Given the description of an element on the screen output the (x, y) to click on. 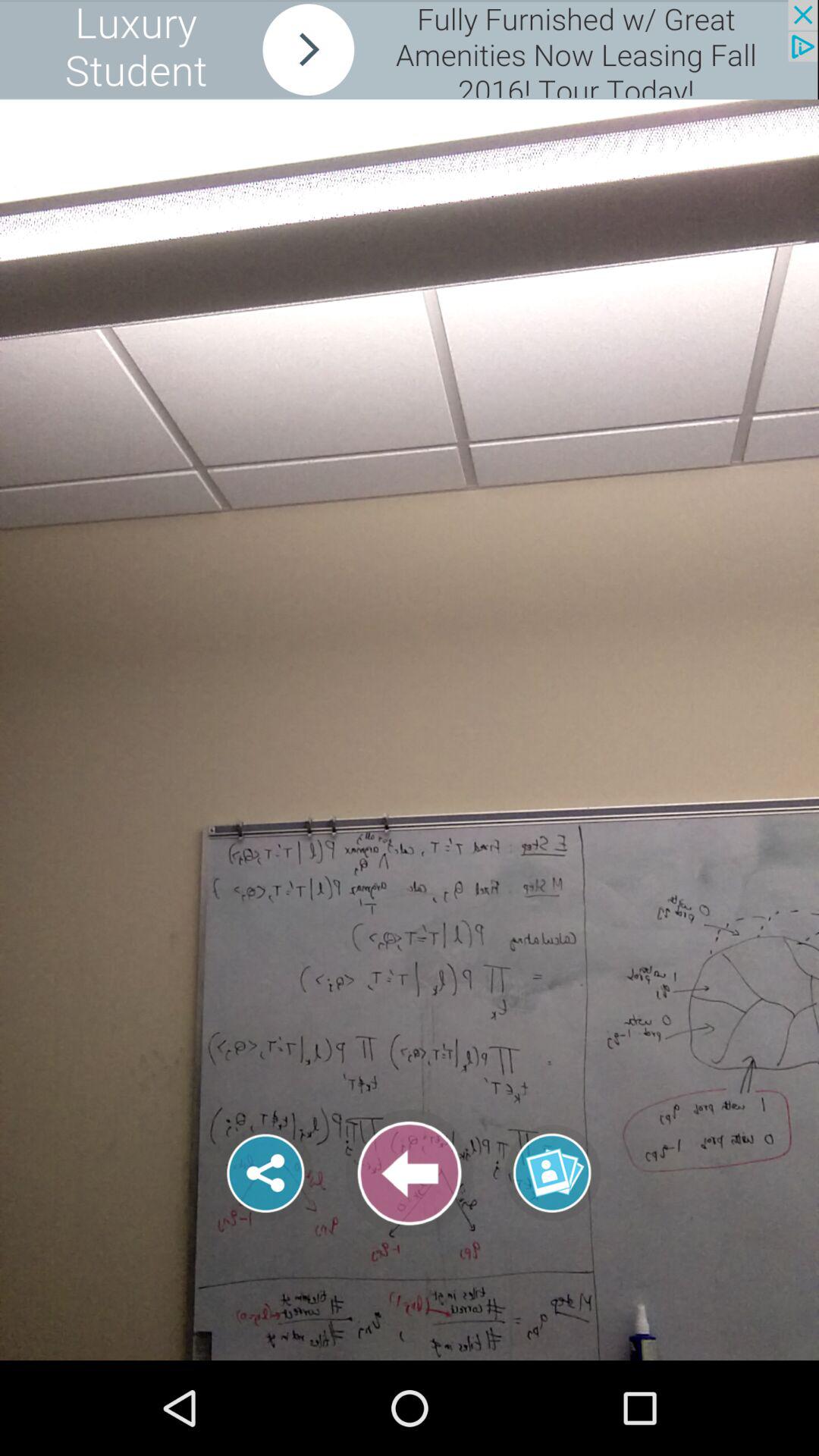
remove the add (408, 49)
